Given the description of an element on the screen output the (x, y) to click on. 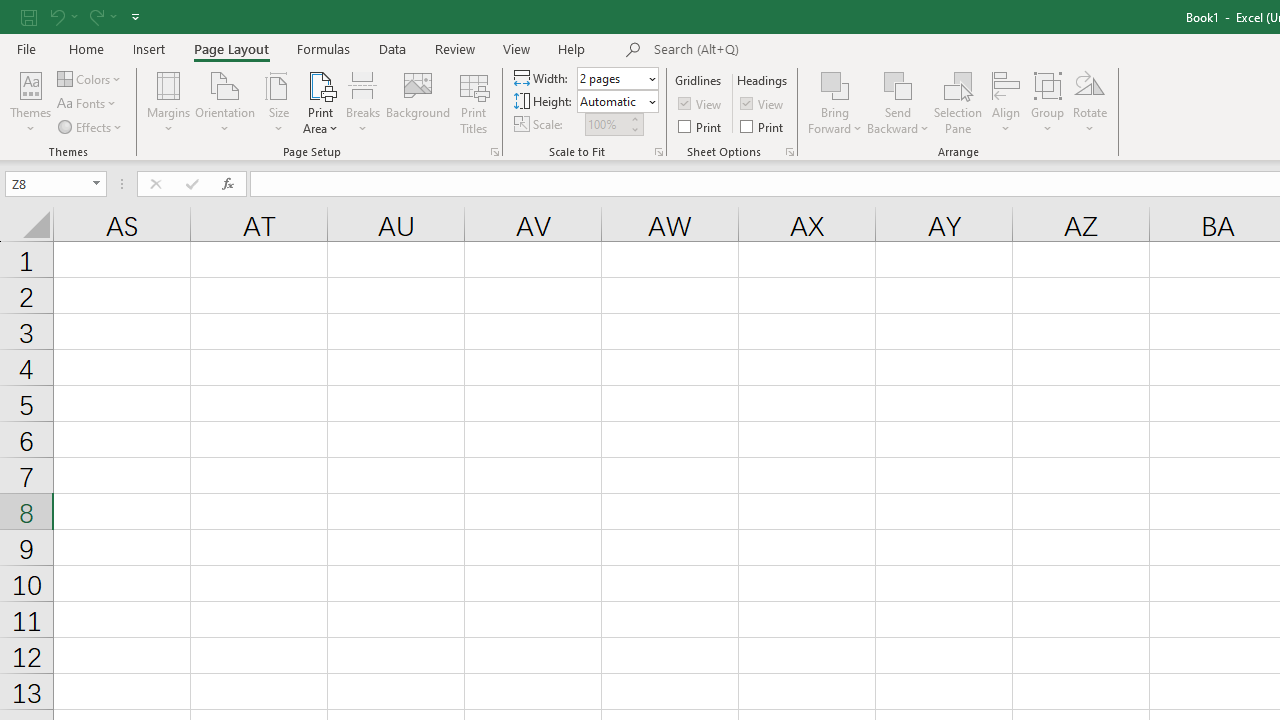
Save (29, 15)
Insert (149, 48)
Page Setup (658, 151)
Themes (30, 102)
Bring Forward (835, 102)
Orientation (225, 102)
Margins (168, 102)
Send Backward (898, 84)
View (517, 48)
Microsoft search (792, 49)
Print Area (320, 102)
Help (572, 48)
Page Layout (230, 48)
Height (611, 101)
